Given the description of an element on the screen output the (x, y) to click on. 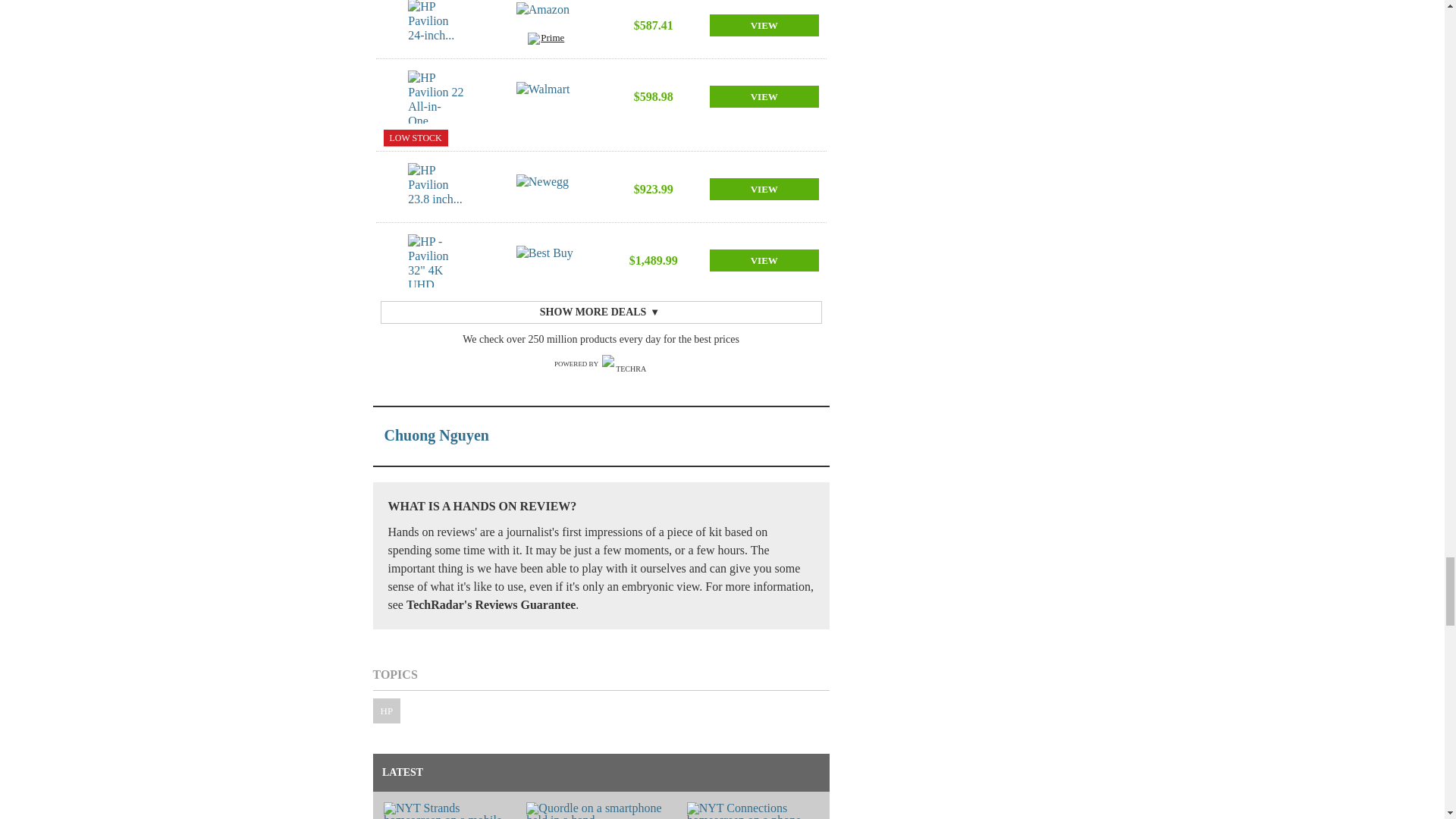
Best Buy (546, 260)
Techradar (624, 363)
HP Pavilion 24-inch... (437, 26)
Amazon (546, 17)
Walmart (546, 96)
Prime (546, 40)
Low Stock (416, 137)
HP Pavilion 23.8 inch... (437, 189)
HP Pavilion 22 All-in-One... (437, 96)
HP - Pavilion 32" 4K UHD... (437, 260)
